Given the description of an element on the screen output the (x, y) to click on. 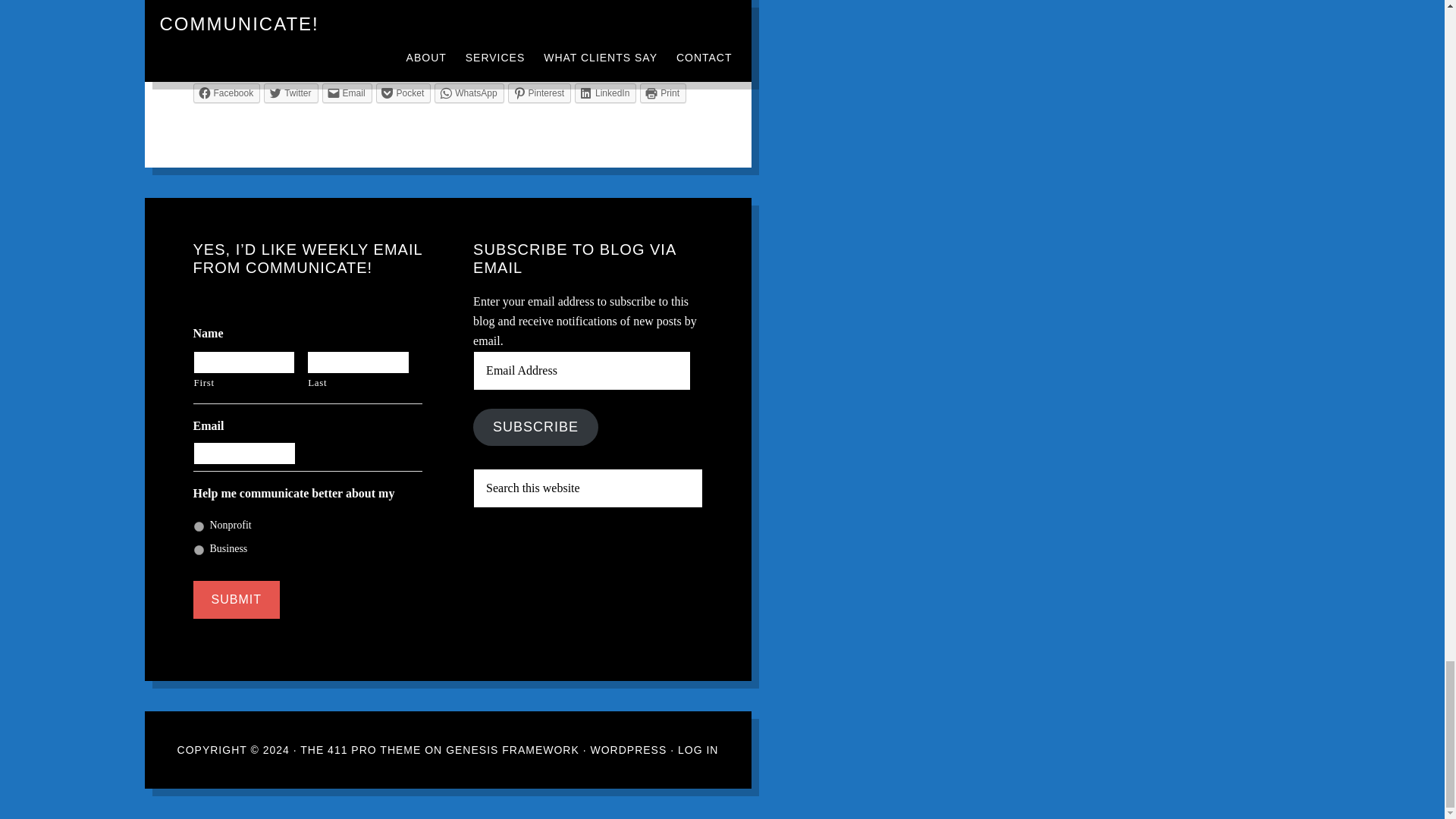
Business (198, 550)
Pinterest (539, 92)
Email (346, 92)
Click to print (662, 92)
Click to share on Pocket (402, 92)
Click to share on LinkedIn (605, 92)
LinkedIn (605, 92)
Click to share on Facebook (226, 92)
